Given the description of an element on the screen output the (x, y) to click on. 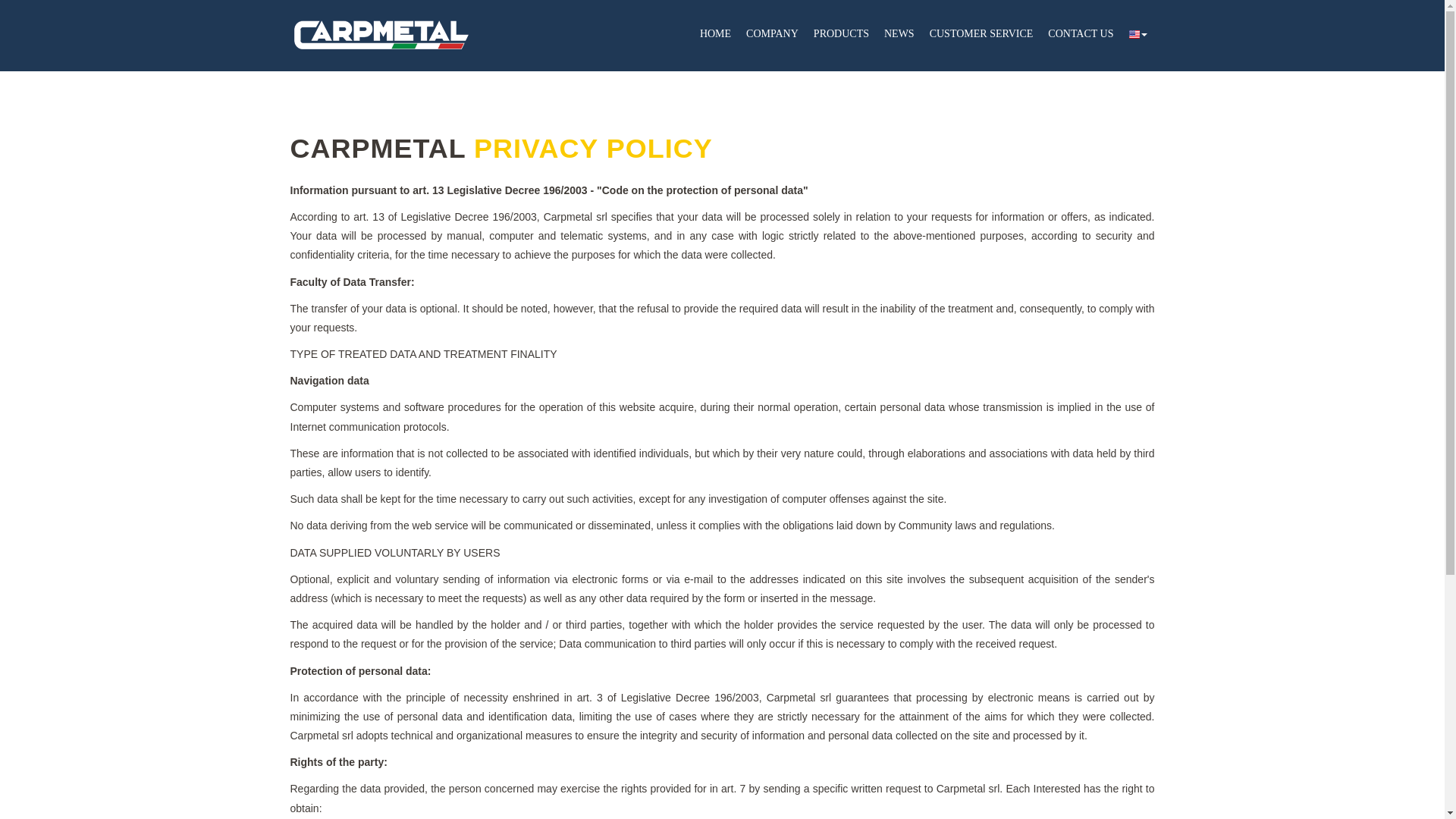
NEWS (898, 35)
HOME (715, 35)
PRODUCTS (841, 35)
Products (841, 35)
Home (715, 35)
Company (772, 35)
CONTACT US (1081, 35)
COMPANY (772, 35)
CUSTOMER SERVICE (981, 35)
Green (380, 33)
